Given the description of an element on the screen output the (x, y) to click on. 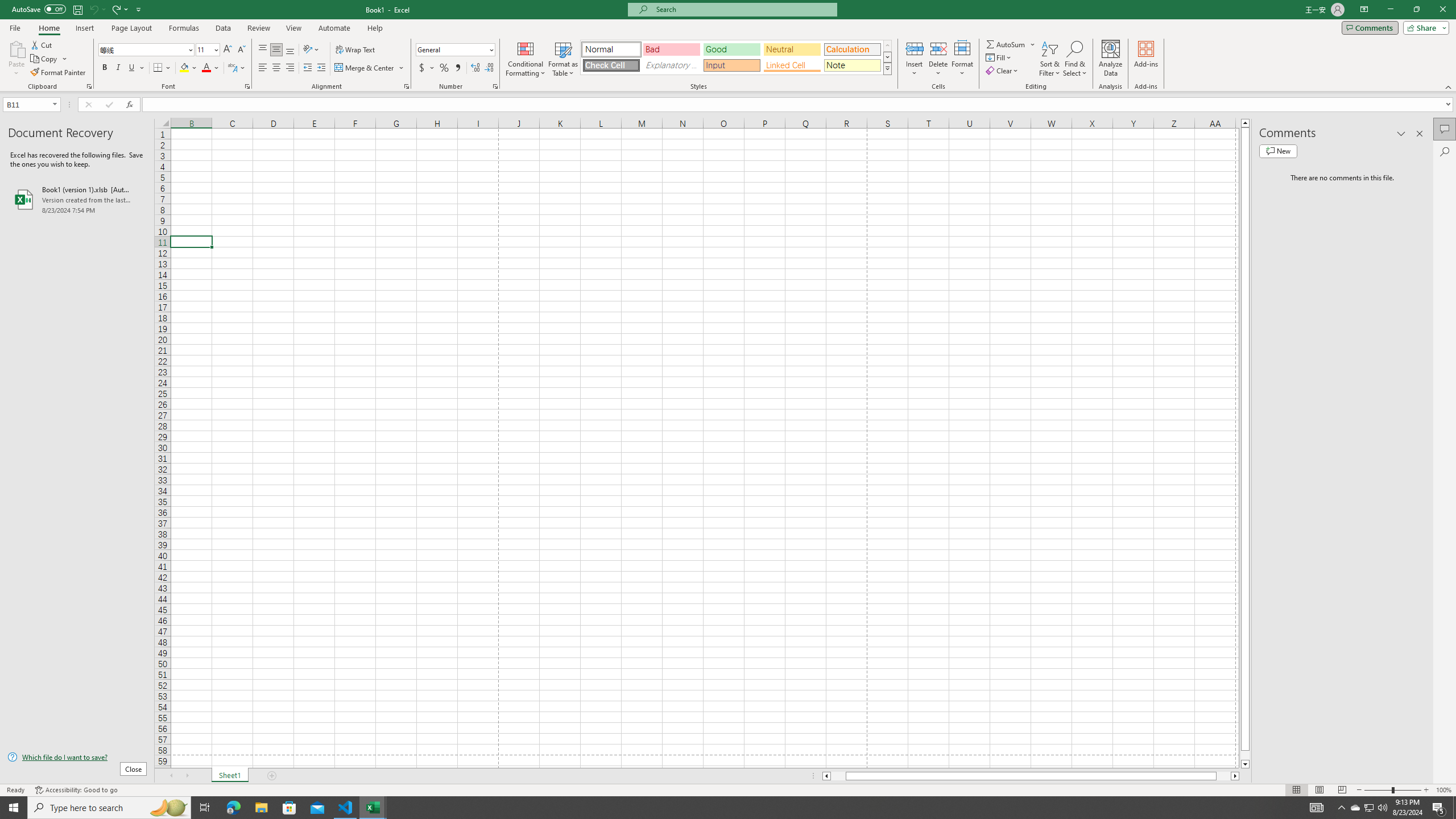
Accounting Number Format (426, 67)
Insert Cells (914, 48)
Number Format (455, 49)
Automate (334, 28)
Office Clipboard... (88, 85)
Font Size (207, 49)
Italic (118, 67)
Analyze Data (1110, 58)
New comment (1278, 151)
Task Pane Options (1400, 133)
Font (147, 49)
Input (731, 65)
Format as Table (563, 58)
Wrap Text (355, 49)
